Given the description of an element on the screen output the (x, y) to click on. 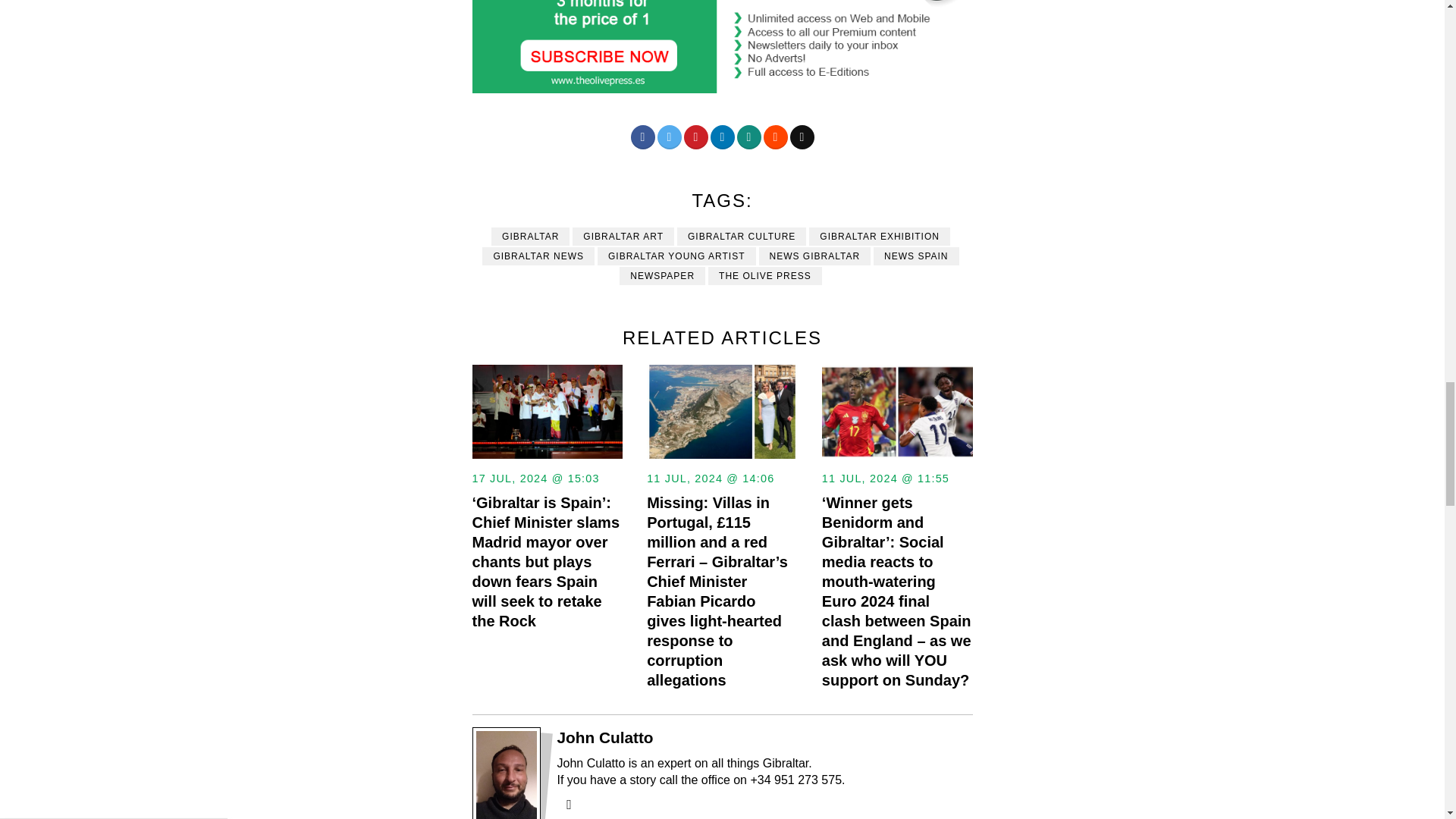
17 Jul, 2024 15:11:03 (534, 478)
11 Jul, 2024 14:14:06 (710, 478)
11 Jul, 2024 11:51:55 (885, 478)
